Given the description of an element on the screen output the (x, y) to click on. 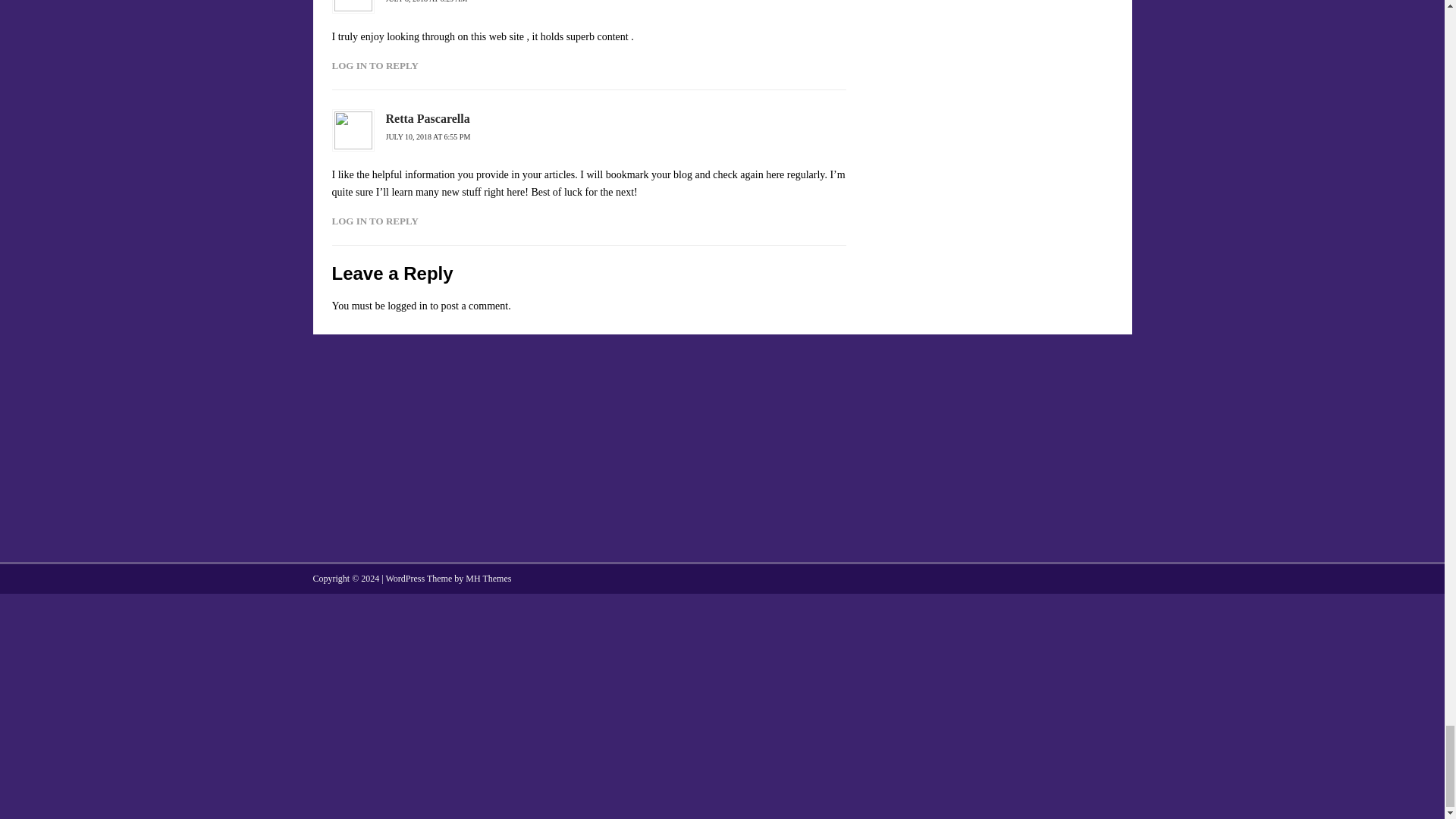
LOG IN TO REPLY (375, 65)
JULY 8, 2018 AT 6:29 AM (426, 1)
logged in (407, 306)
LOG IN TO REPLY (375, 220)
JULY 10, 2018 AT 6:55 PM (427, 136)
